Given the description of an element on the screen output the (x, y) to click on. 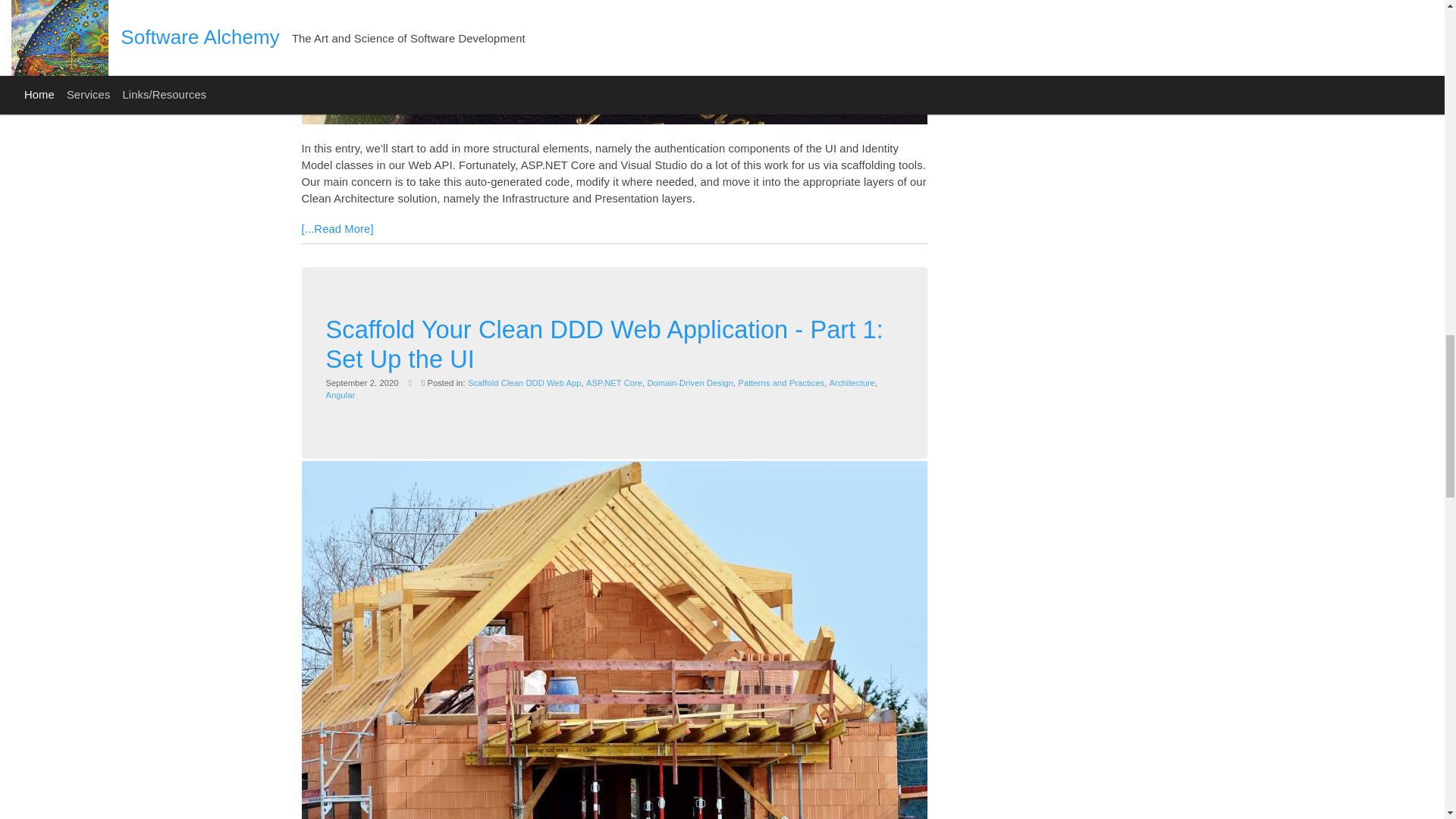
ASP.NET Core (614, 381)
Architecture (852, 381)
Patterns and Practices (781, 381)
Scaffold Clean DDD Web App (523, 381)
Domain-Driven Design (689, 381)
Angular (340, 394)
